Given the description of an element on the screen output the (x, y) to click on. 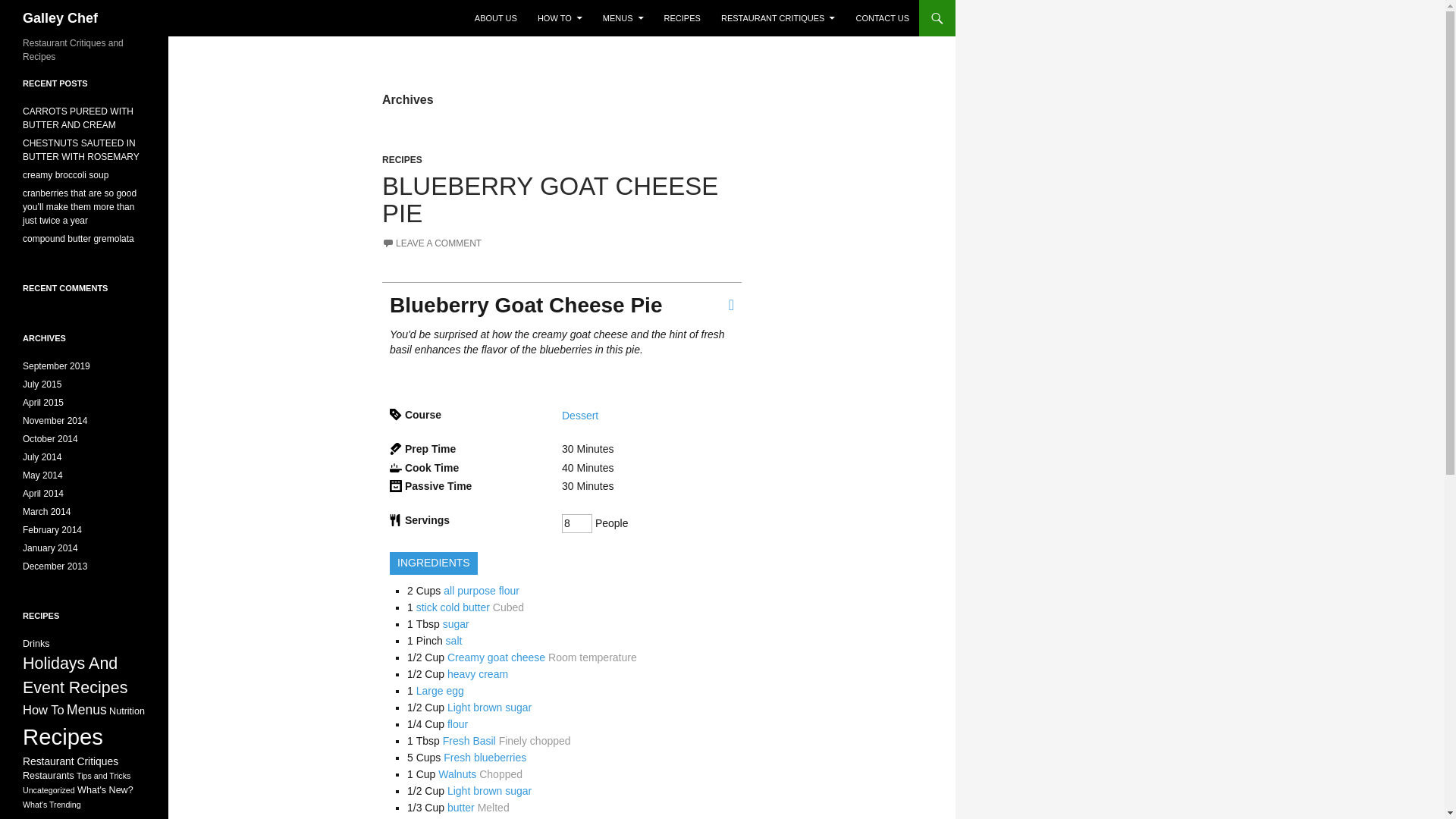
CONTACT US (881, 18)
RECIPES (401, 159)
Fresh Basil (469, 740)
sugar (455, 623)
Walnuts (457, 774)
all purpose flour (481, 590)
Creamy goat cheese (495, 657)
Large egg (440, 690)
Light brown sugar (488, 707)
ABOUT US (495, 18)
